Given the description of an element on the screen output the (x, y) to click on. 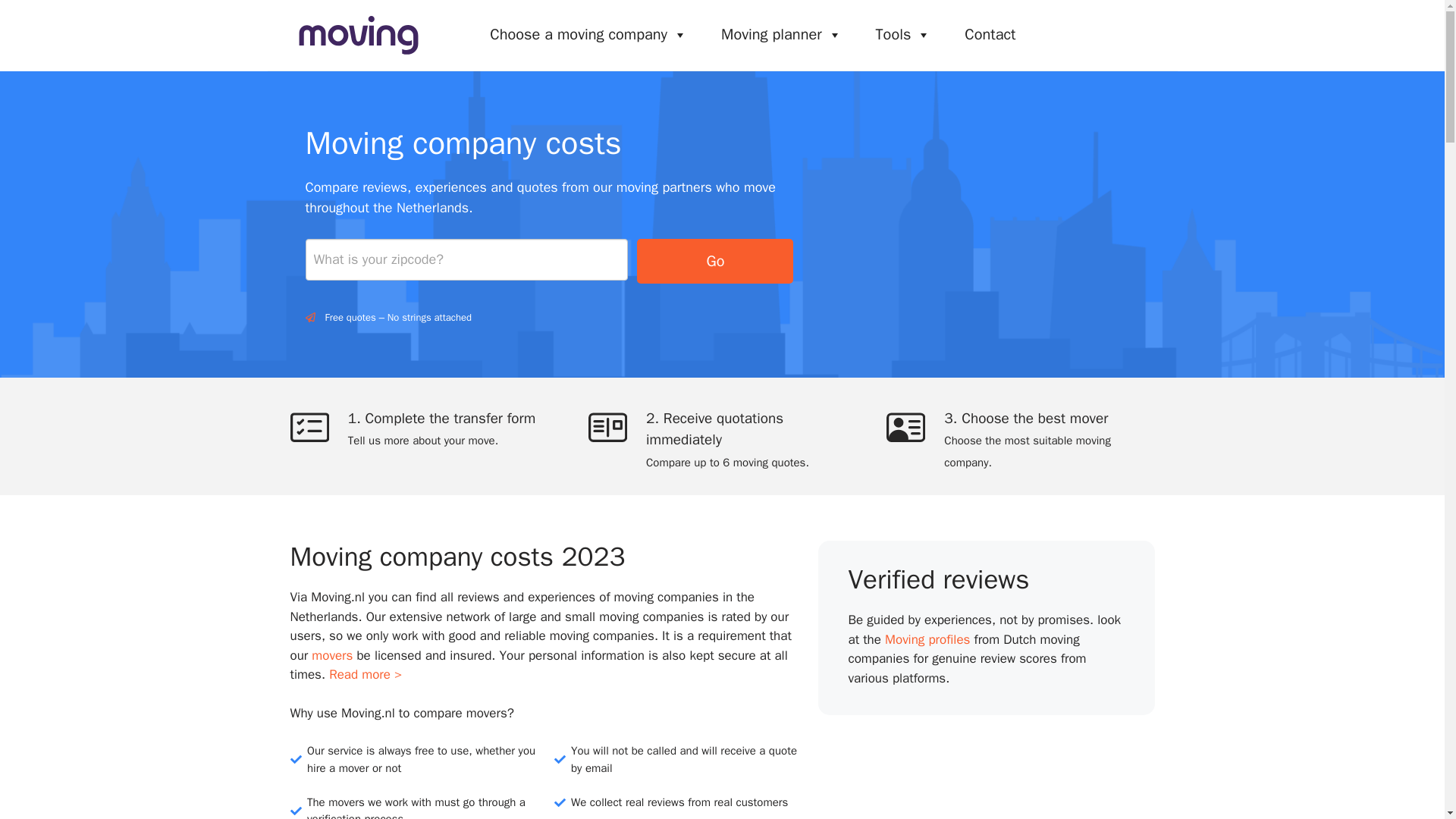
Moving planner (780, 34)
Free quote (1084, 34)
Contact (989, 34)
Tools (903, 34)
Choose a moving company (587, 34)
